Given the description of an element on the screen output the (x, y) to click on. 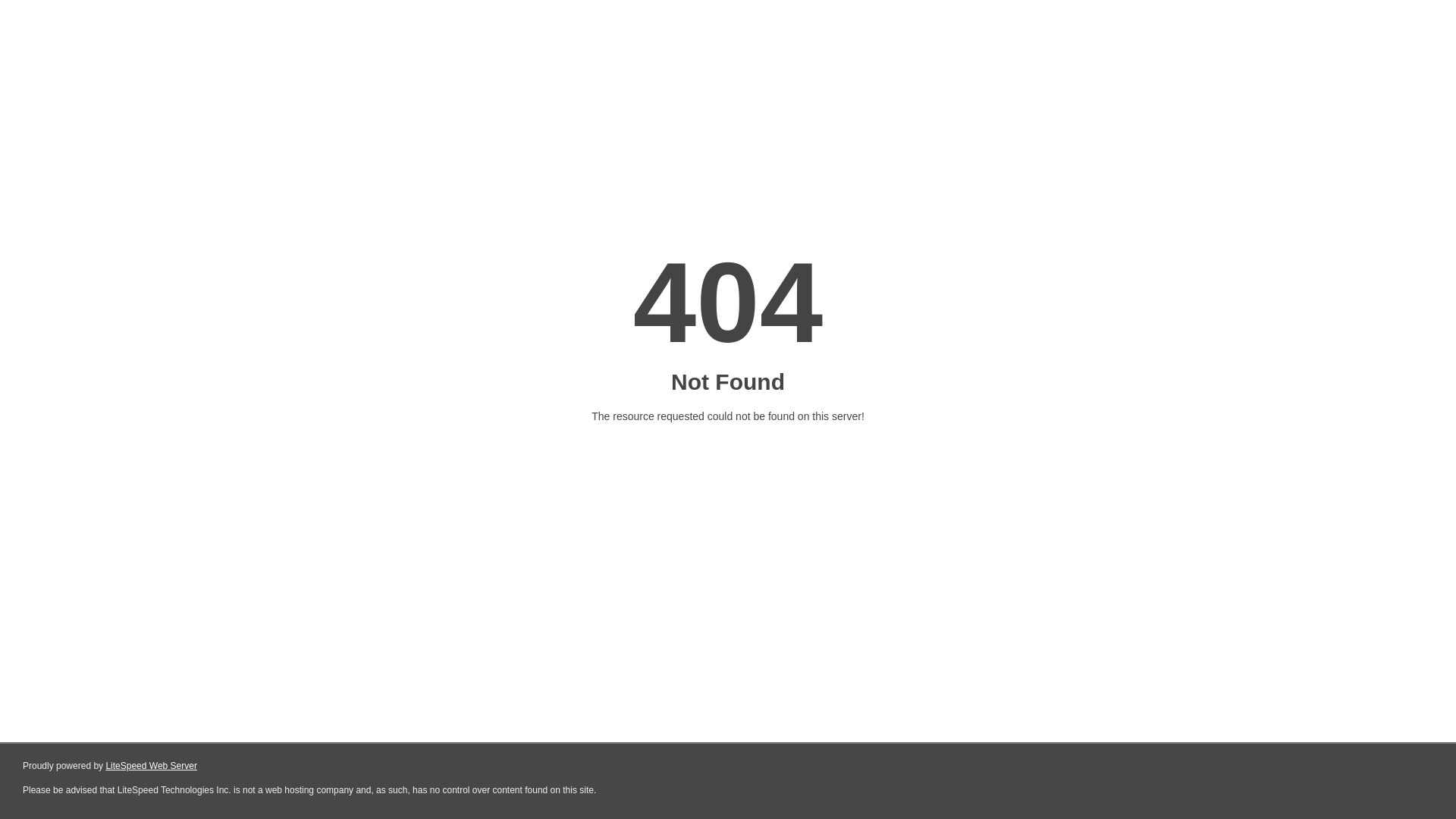
LiteSpeed Web Server Element type: text (151, 765)
